Given the description of an element on the screen output the (x, y) to click on. 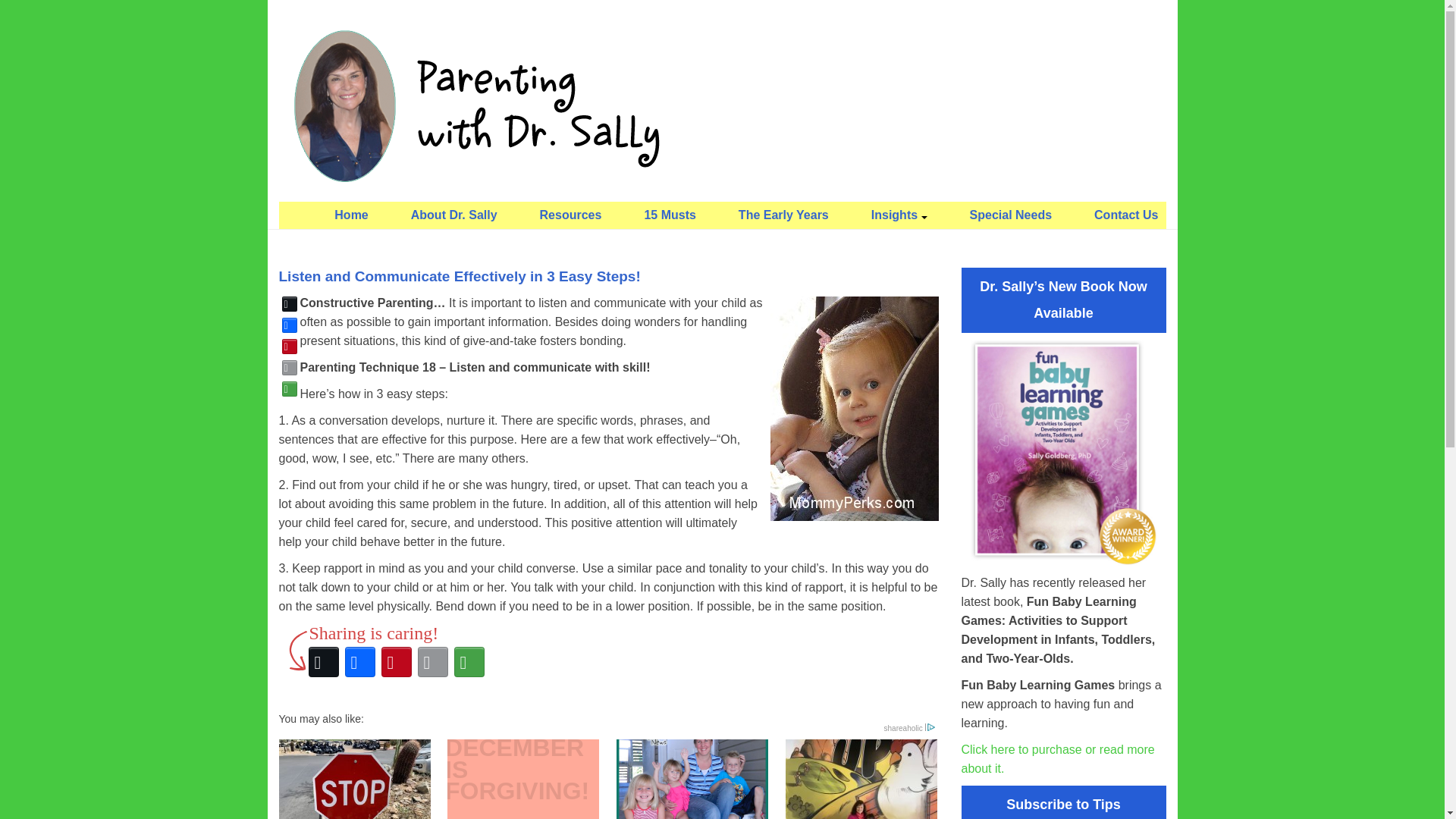
Pinterest (395, 661)
Insights (898, 215)
Email This (289, 367)
Facebook (358, 661)
The Early Years (782, 215)
Facebook (289, 324)
What are Special Needs? (861, 779)
More Options (289, 388)
About Dr. Sally (454, 215)
Contact Us (1126, 215)
December is Forgiving! (522, 779)
Pinterest (289, 346)
Resources (571, 215)
15 Musts (691, 779)
15 Musts (669, 215)
